Given the description of an element on the screen output the (x, y) to click on. 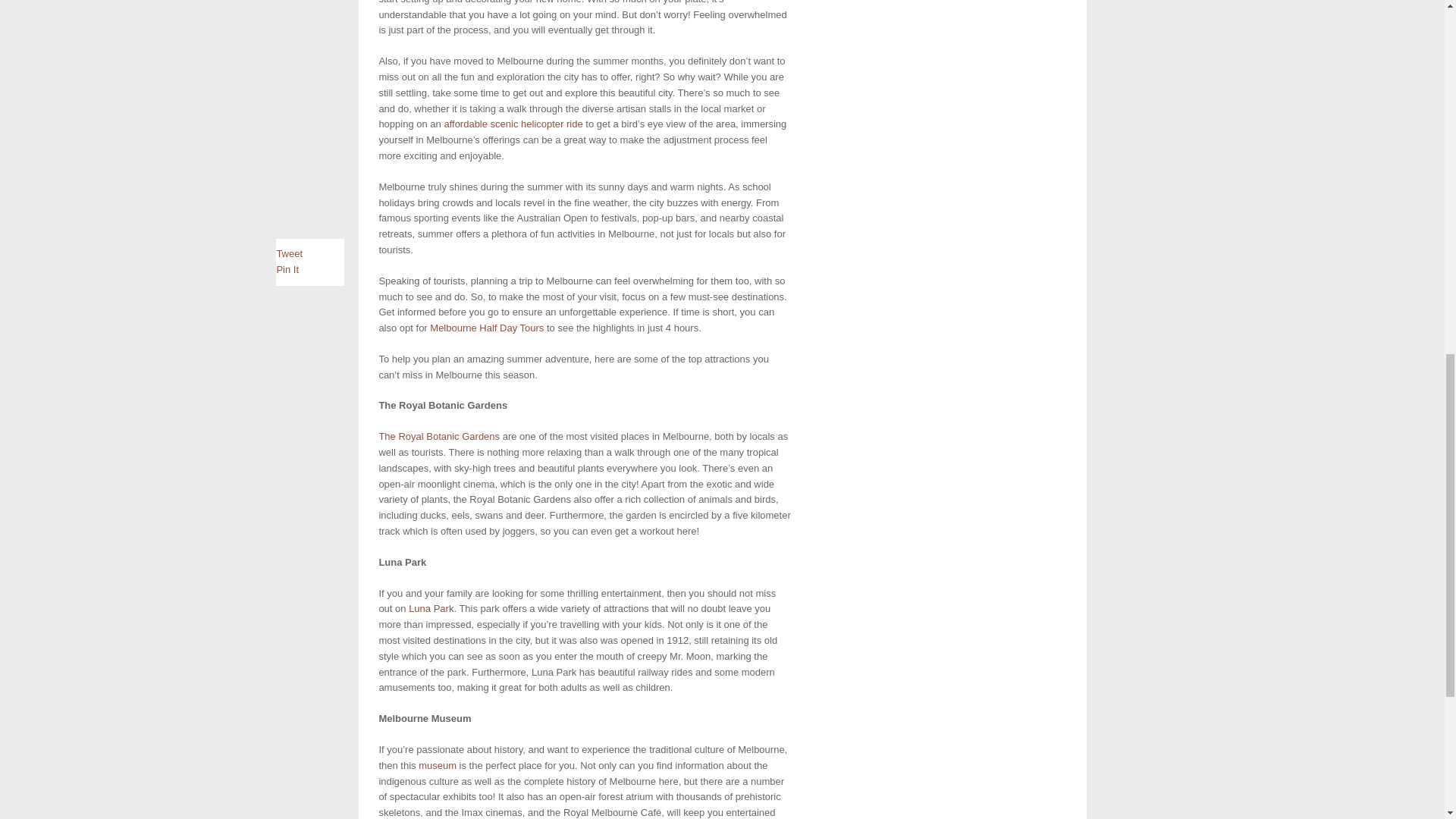
The Royal Botanic Gardens (438, 436)
Luna Park (430, 608)
museum (438, 765)
affordable scenic helicopter ride (513, 123)
Melbourne Half Day Tours (486, 327)
